Given the description of an element on the screen output the (x, y) to click on. 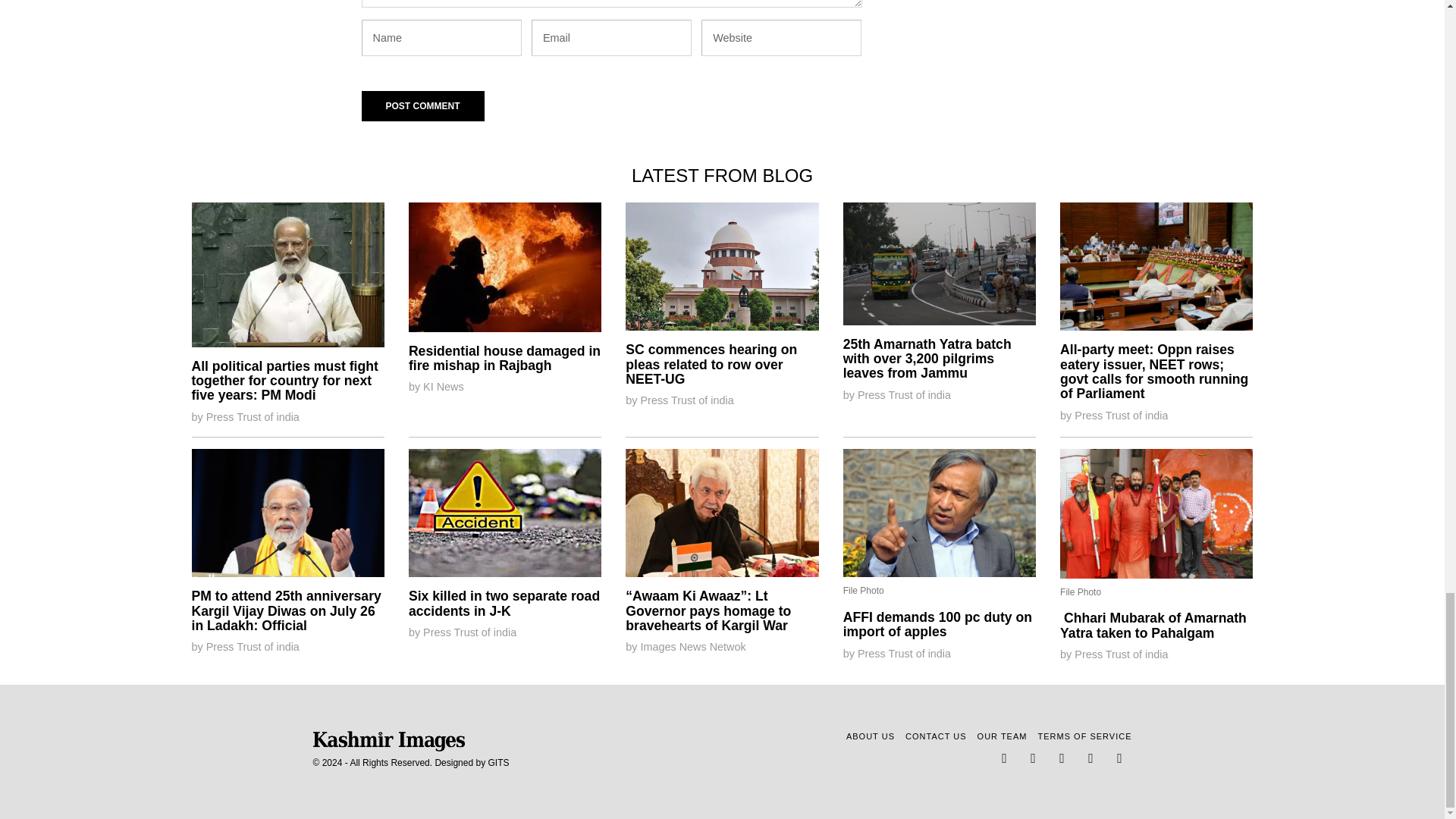
Post Comment (422, 105)
